Given the description of an element on the screen output the (x, y) to click on. 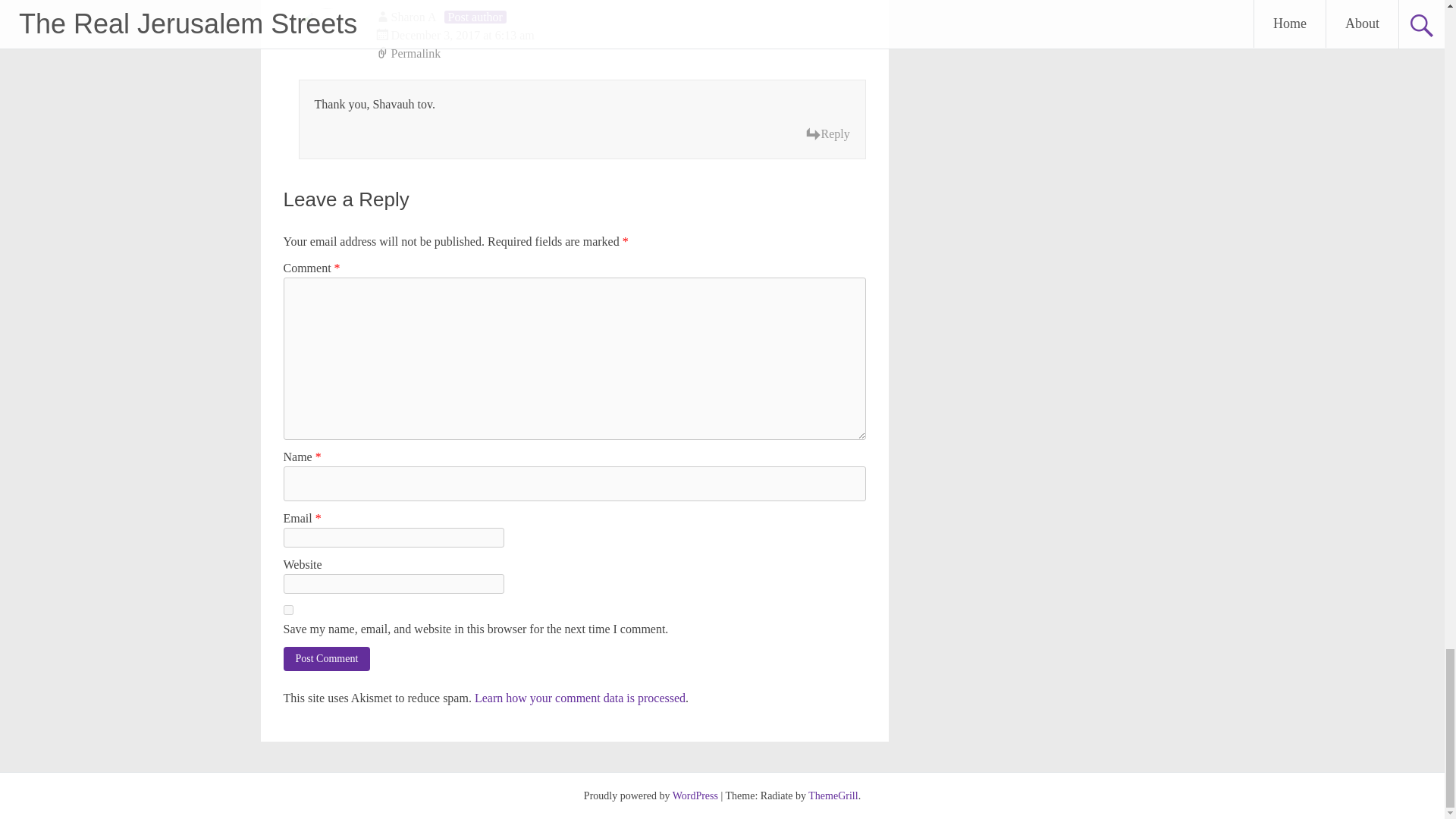
Post Comment (327, 658)
Learn how your comment data is processed (579, 697)
Permalink (620, 54)
Post Comment (327, 658)
Reply (827, 134)
yes (288, 610)
